Given the description of an element on the screen output the (x, y) to click on. 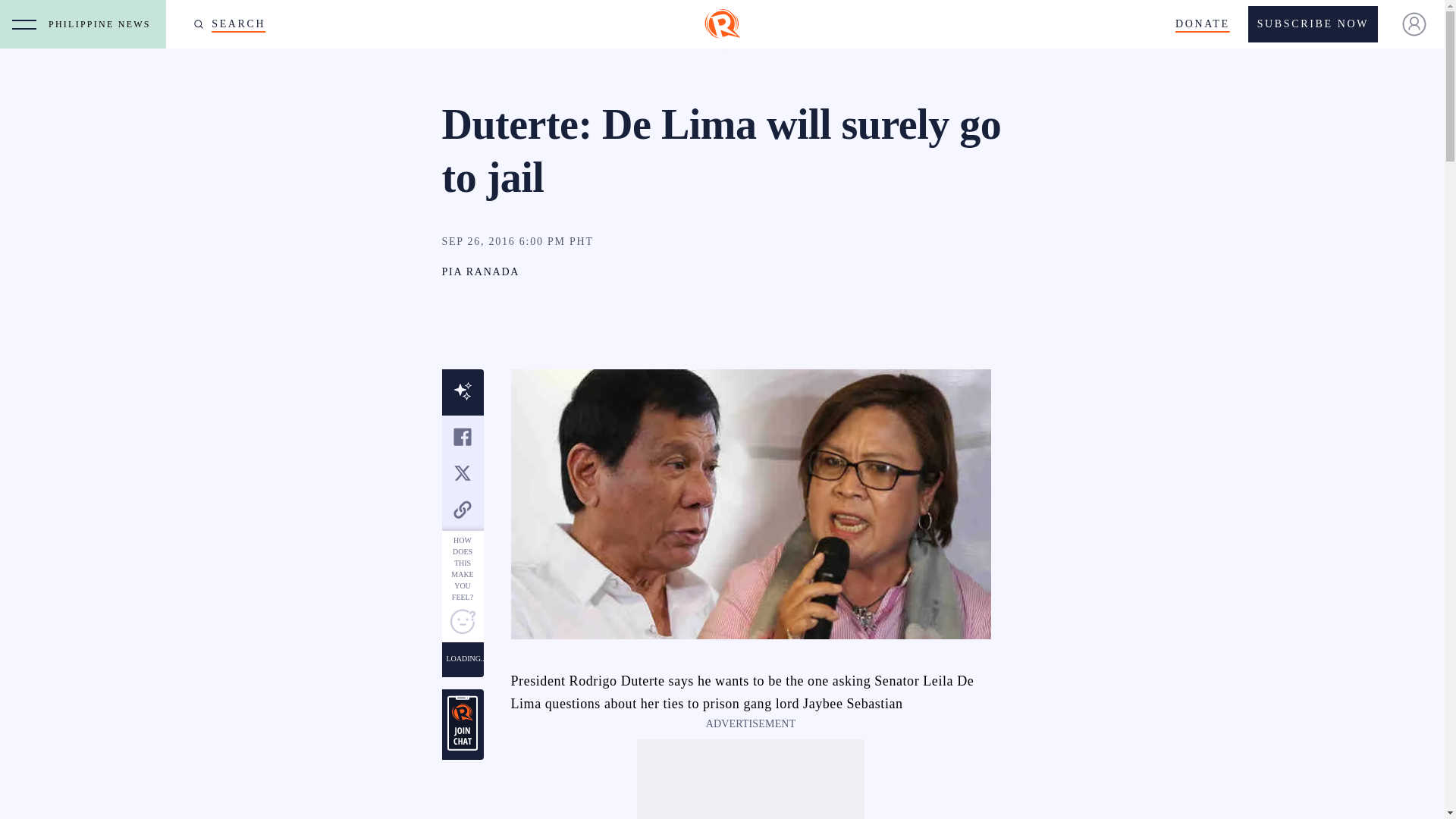
OPEN NAVIGATION (24, 24)
PHILIPPINE NEWS (103, 23)
